Given the description of an element on the screen output the (x, y) to click on. 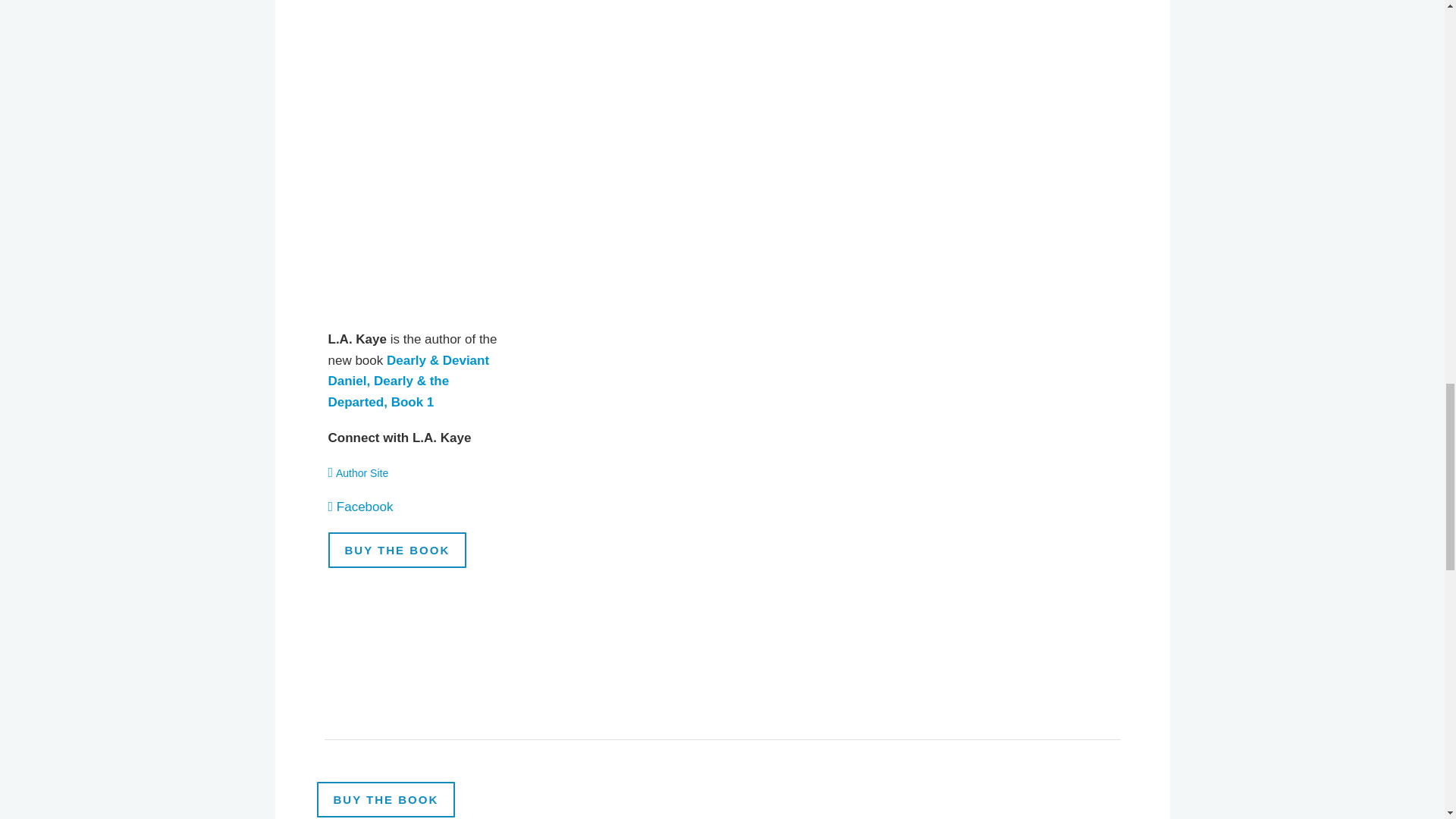
Author Site (362, 472)
Facebook (364, 506)
